Given the description of an element on the screen output the (x, y) to click on. 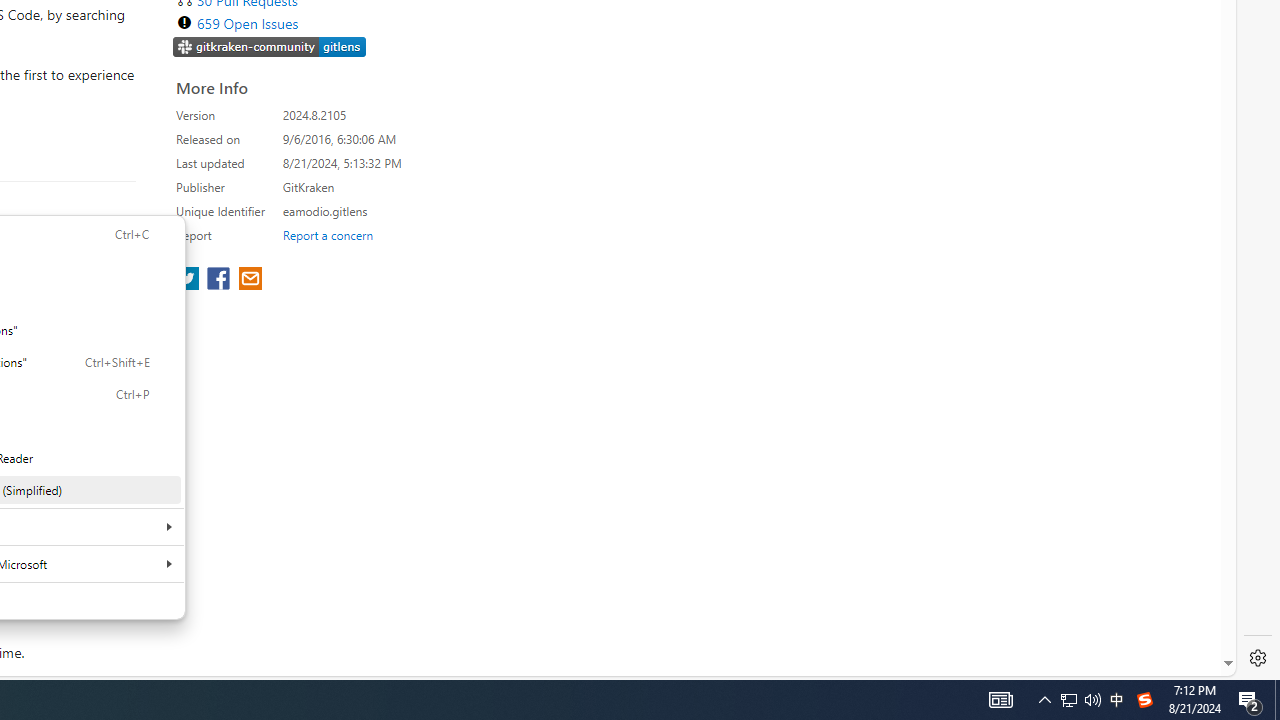
Settings (1258, 658)
share extension on email (249, 280)
https://slack.gitkraken.com// (269, 48)
share extension on twitter (190, 280)
https://slack.gitkraken.com// (269, 46)
Report a concern (327, 234)
share extension on facebook (220, 280)
